Given the description of an element on the screen output the (x, y) to click on. 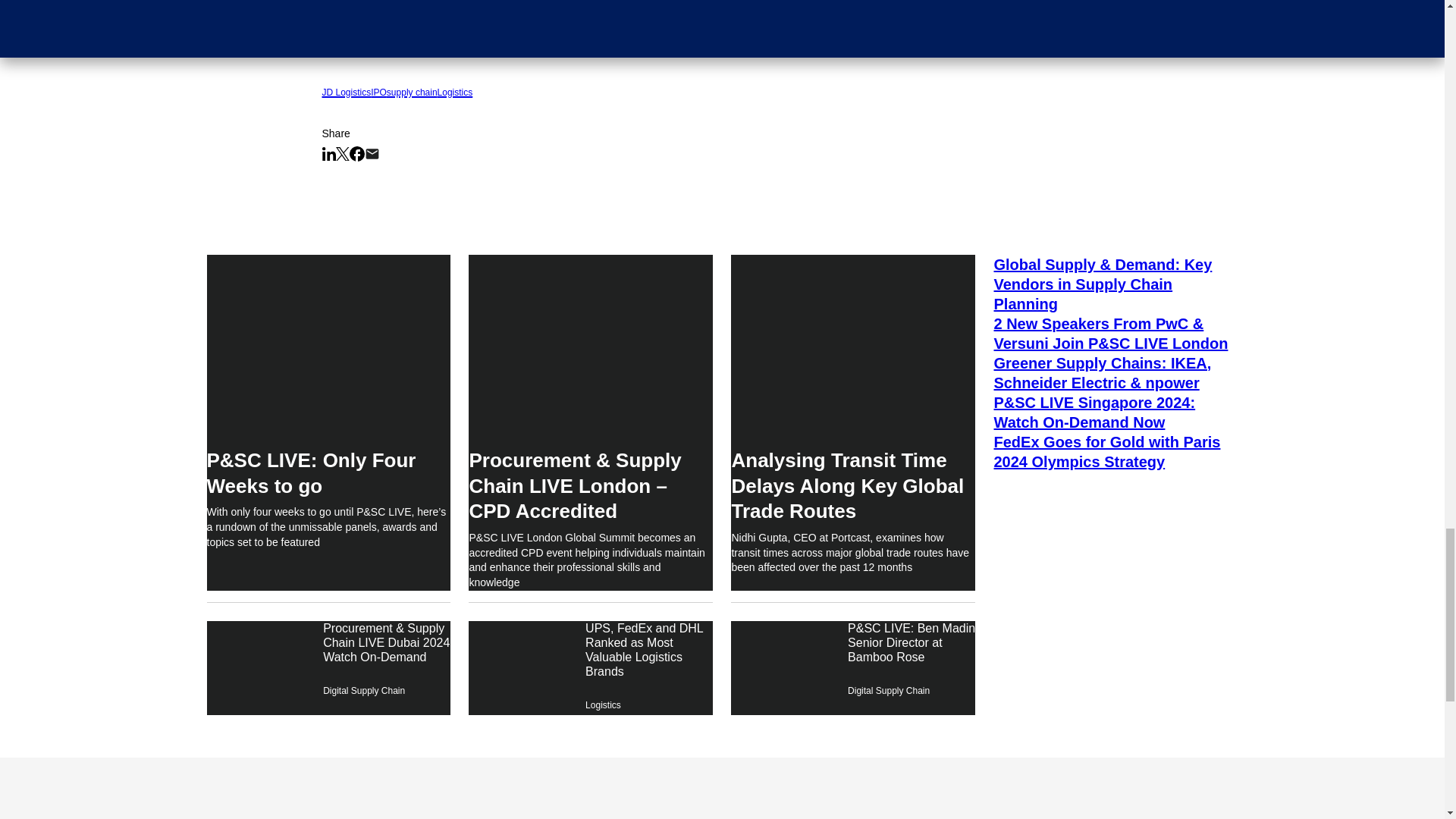
supply chain (412, 89)
IPO (379, 89)
FedEx Goes for Gold with Paris 2024 Olympics Strategy (1114, 451)
Logistics (455, 89)
JD Logistics (346, 89)
